Given the description of an element on the screen output the (x, y) to click on. 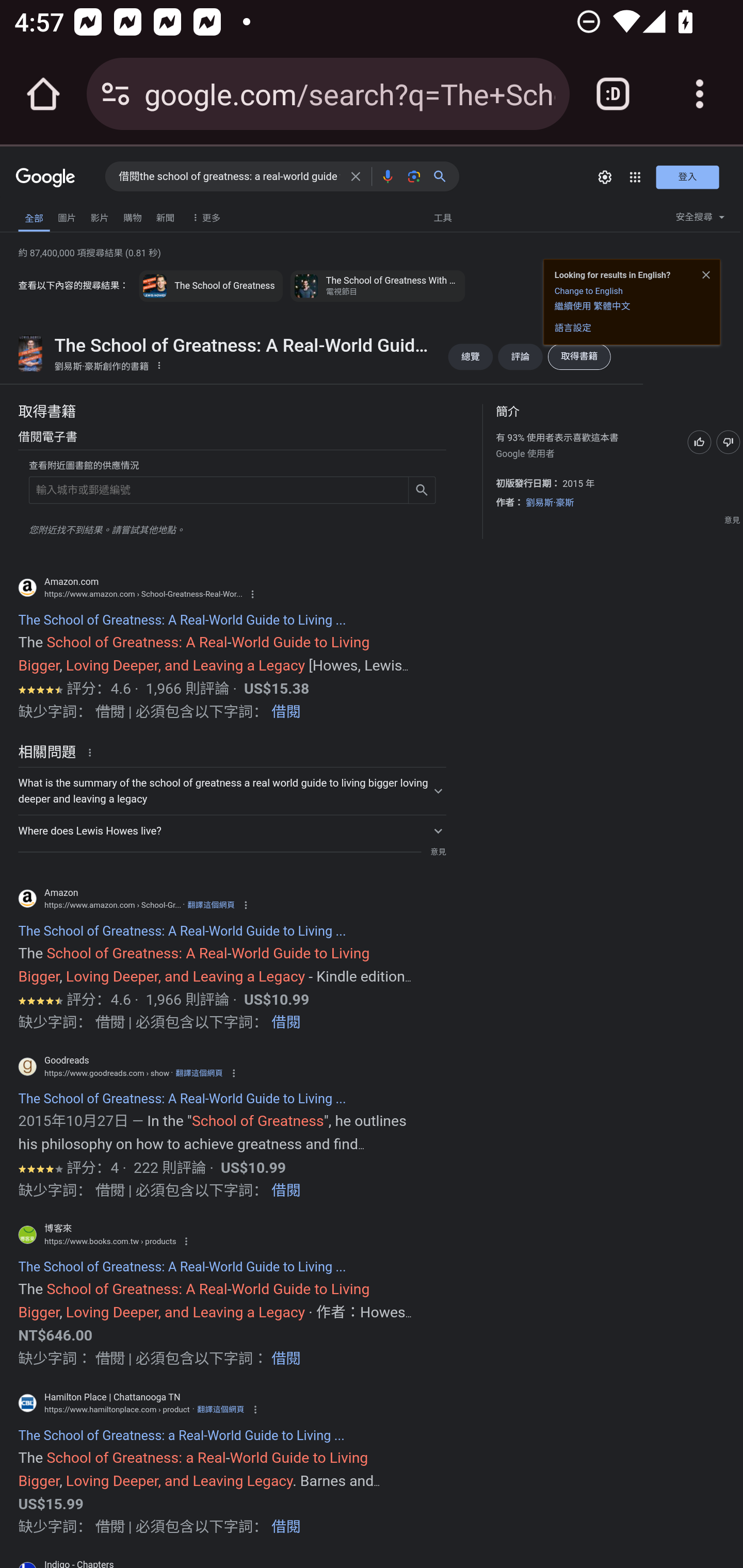
Open the home page (43, 93)
Connection is secure (115, 93)
Switch or close tabs (612, 93)
Customize and control Google Chrome (699, 93)
 清除 (355, 176)
語音搜尋 (387, 176)
以圖搜尋 (413, 176)
搜尋  (443, 176)
設定 (604, 176)
Google 應用程式 (634, 176)
登入 (687, 176)
Google (45, 178)
無障礙功能意見 (42, 212)
圖片 (67, 216)
影片 (99, 216)
購物 (132, 216)
新聞 (165, 216)
更多 (203, 216)
安全搜尋 (700, 219)
工具 (442, 216)
The School of Greatness (210, 285)
Change to English (588, 290)
繼續使用 繁體中文 繼續使用  繁體中文 (592, 305)
語言設定 (572, 326)
總覽 (470, 356)
評論 (520, 356)
取得書籍 (578, 356)
更多選項 (158, 364)
喜歡 (698, 441)
不喜歡 (727, 441)
劉易斯·豪斯 (549, 502)
意見 (731, 520)
借閱 (285, 713)
關於此結果 (92, 751)
Where does Lewis Howes live? (231, 829)
意見 (437, 851)
翻譯這個網頁 (210, 904)
借閱 (285, 1024)
翻譯這個網頁 (198, 1072)
借閱 (285, 1191)
借閱 (285, 1359)
翻譯這個網頁 (220, 1409)
借閱 (285, 1528)
